Given the description of an element on the screen output the (x, y) to click on. 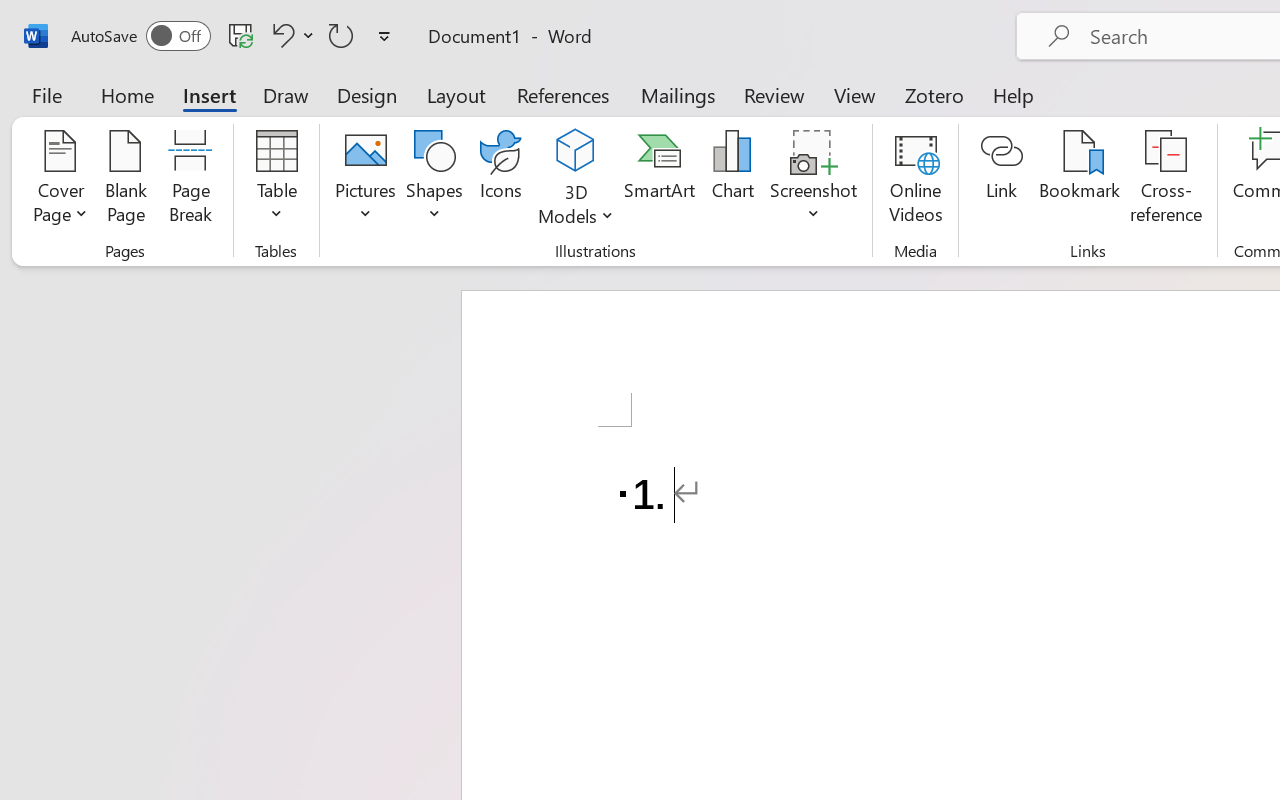
SmartArt... (659, 179)
Cover Page (60, 179)
Undo Number Default (280, 35)
Page Break (190, 179)
Cross-reference... (1165, 179)
